Given the description of an element on the screen output the (x, y) to click on. 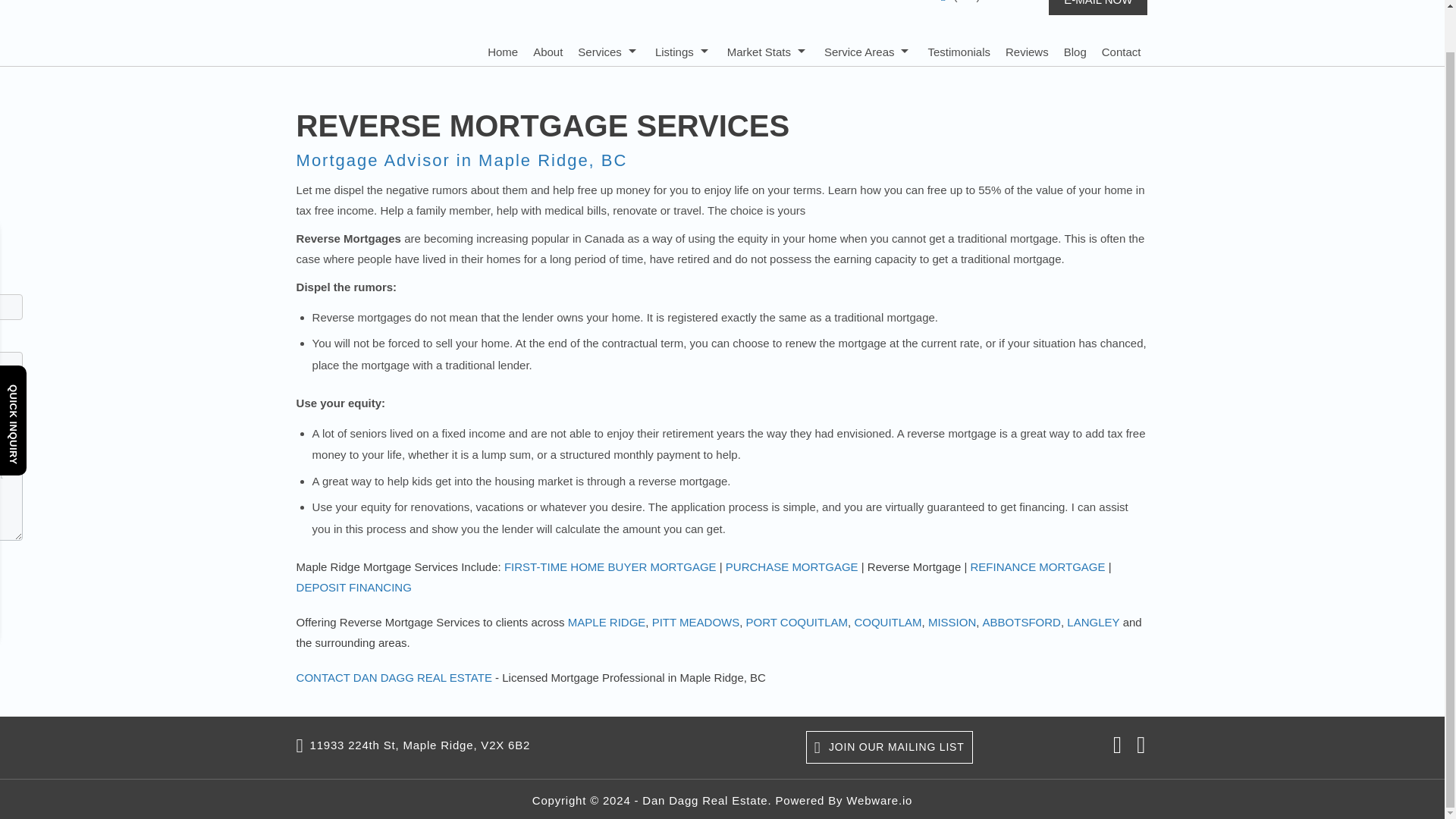
Home (502, 51)
Service Areas (868, 51)
Testimonials (958, 51)
Listings (683, 51)
Contact (1121, 51)
Reviews (1027, 51)
E-MAIL NOW (1098, 7)
Market Stats (767, 51)
Blog (1075, 51)
FIRST-TIME HOME BUYER MORTGAGE (609, 566)
About (547, 51)
Services (609, 51)
